Given the description of an element on the screen output the (x, y) to click on. 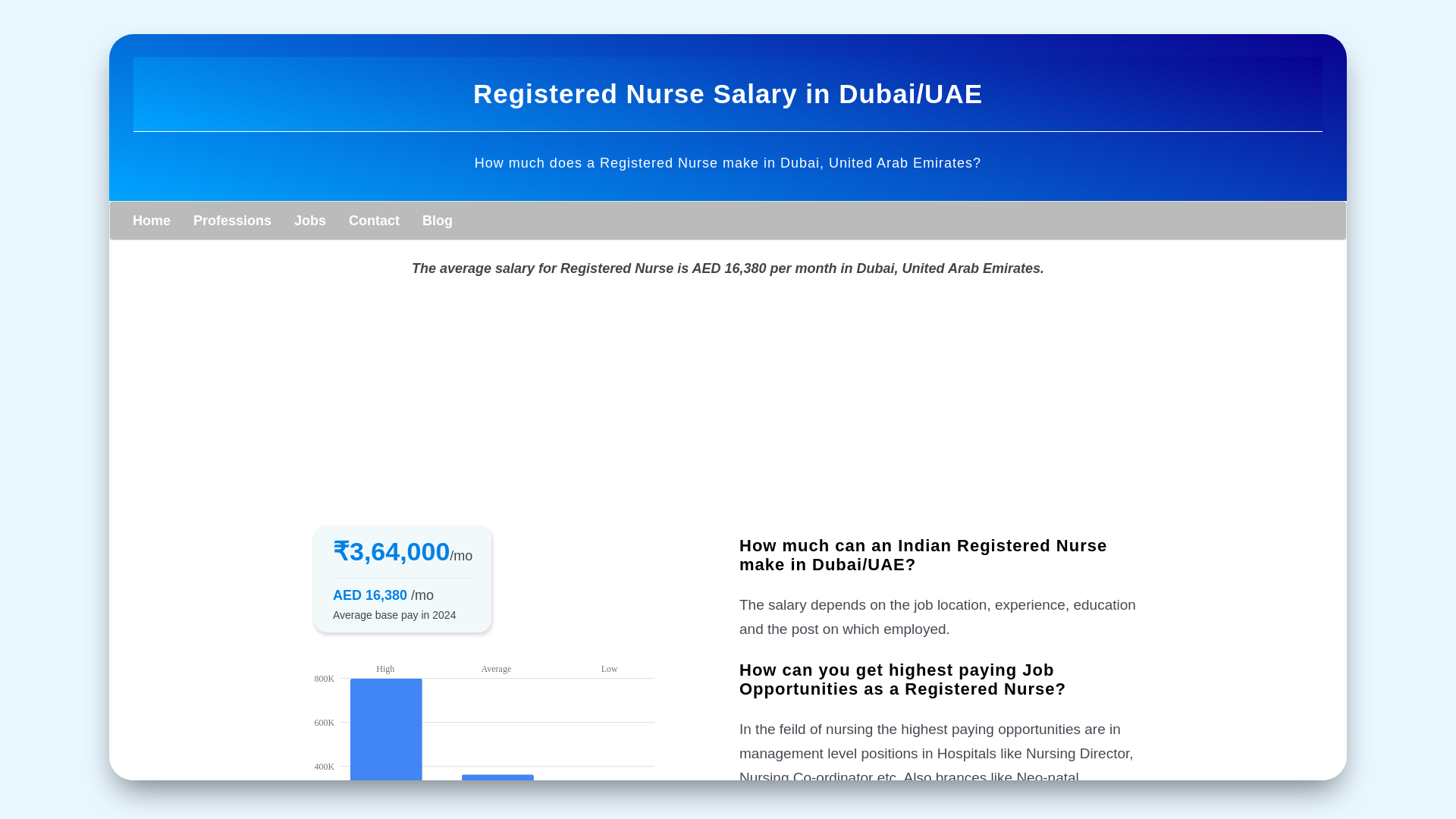
Home (151, 220)
Professions (232, 220)
Jobs (309, 220)
Blog (437, 220)
Contact (373, 220)
